Given the description of an element on the screen output the (x, y) to click on. 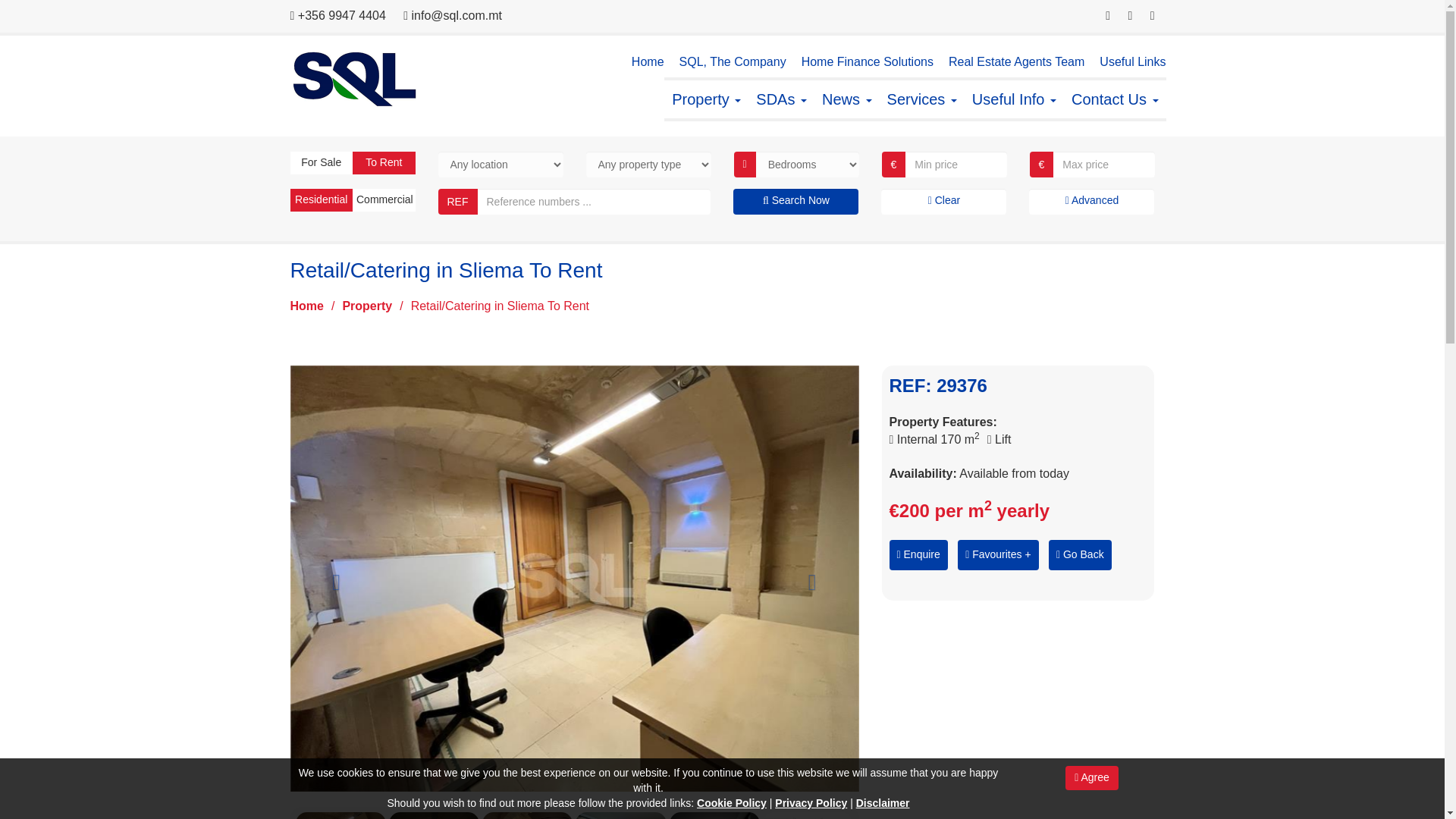
SQL, The Company (732, 61)
Home Finance Solutions (867, 61)
Property (705, 98)
News (846, 98)
Home (647, 61)
Selective Quality Letting Ltd. (351, 78)
Useful Links (1132, 61)
SDAs (780, 98)
Real Estate Agents Team (1016, 61)
